Given the description of an element on the screen output the (x, y) to click on. 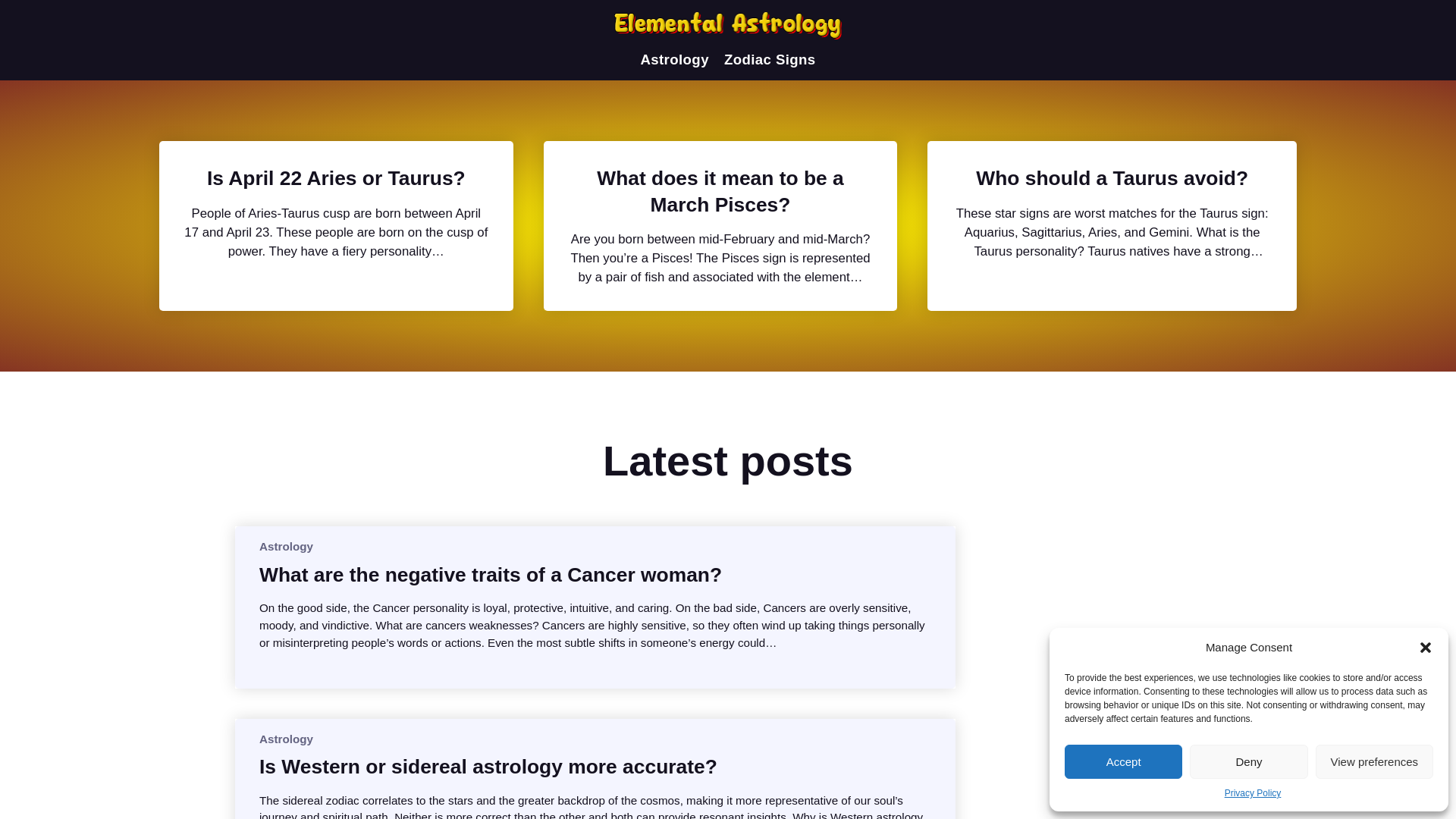
Astrology (674, 59)
What does it mean to be a March Pisces? (720, 191)
Is Western or sidereal astrology more accurate? (488, 766)
View preferences (1374, 761)
Astrology (286, 545)
Deny (1248, 761)
Is April 22 Aries or Taurus? (335, 177)
Privacy Policy (1252, 793)
Who should a Taurus avoid? (1111, 177)
Accept (1123, 761)
What are the negative traits of a Cancer woman? (490, 574)
Zodiac Signs (769, 59)
Astrology (286, 738)
